Given the description of an element on the screen output the (x, y) to click on. 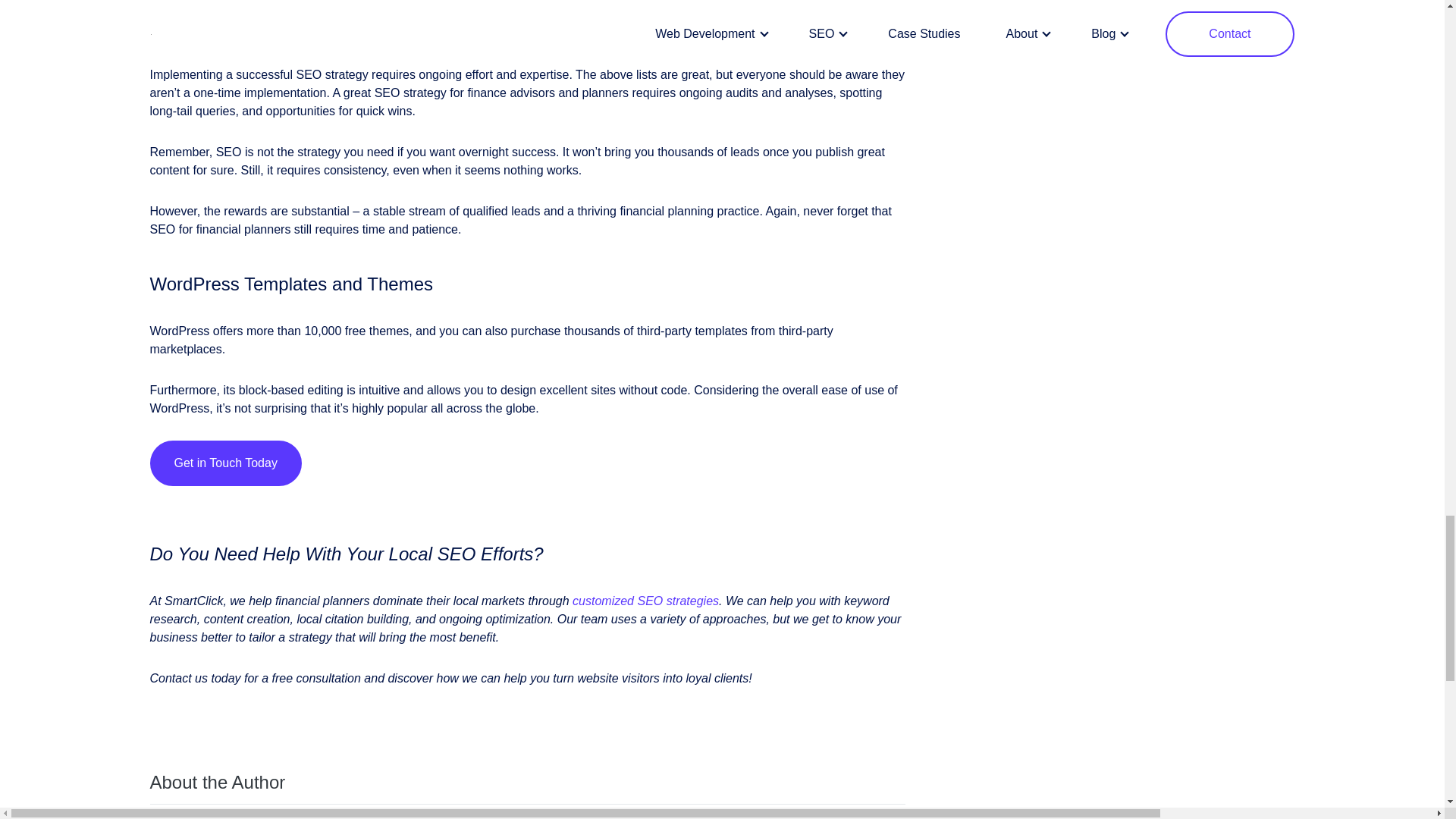
customized SEO strategies (645, 600)
Get in Touch Today (225, 463)
